Given the description of an element on the screen output the (x, y) to click on. 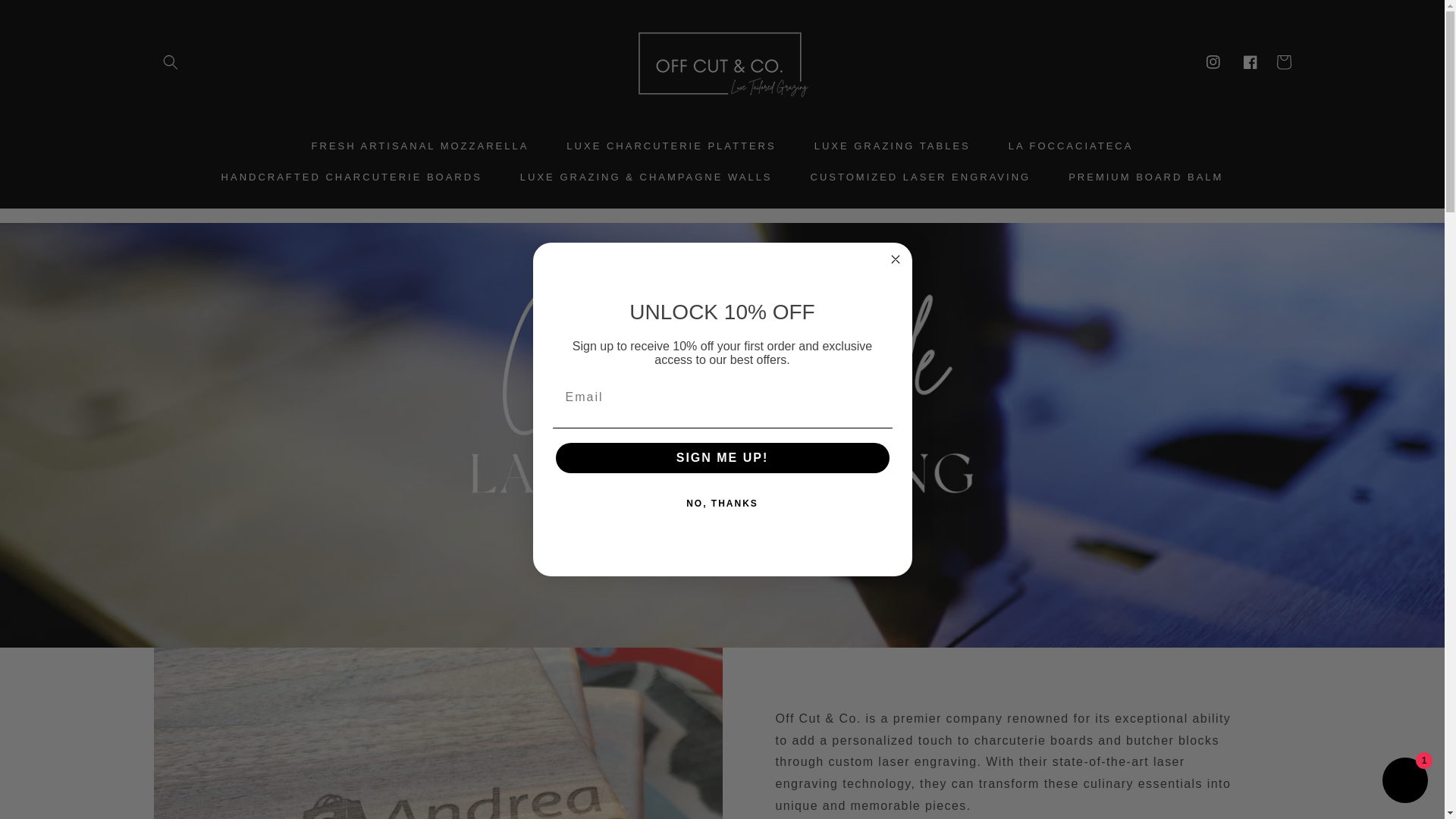
LUXE GRAZING TABLES (892, 146)
Instagram (1212, 61)
Skip to content (45, 17)
LA FOCCACIATECA (1071, 146)
Close dialog 1 (894, 259)
LUXE CHARCUTERIE PLATTERS (670, 146)
CUSTOMIZED LASER ENGRAVING (920, 177)
PREMIUM BOARD BALM (1145, 177)
FRESH ARTISANAL MOZZARELLA (420, 146)
HANDCRAFTED CHARCUTERIE BOARDS (351, 177)
Cart (1283, 61)
Facebook (1250, 61)
Shopify online store chat (1404, 781)
